Given the description of an element on the screen output the (x, y) to click on. 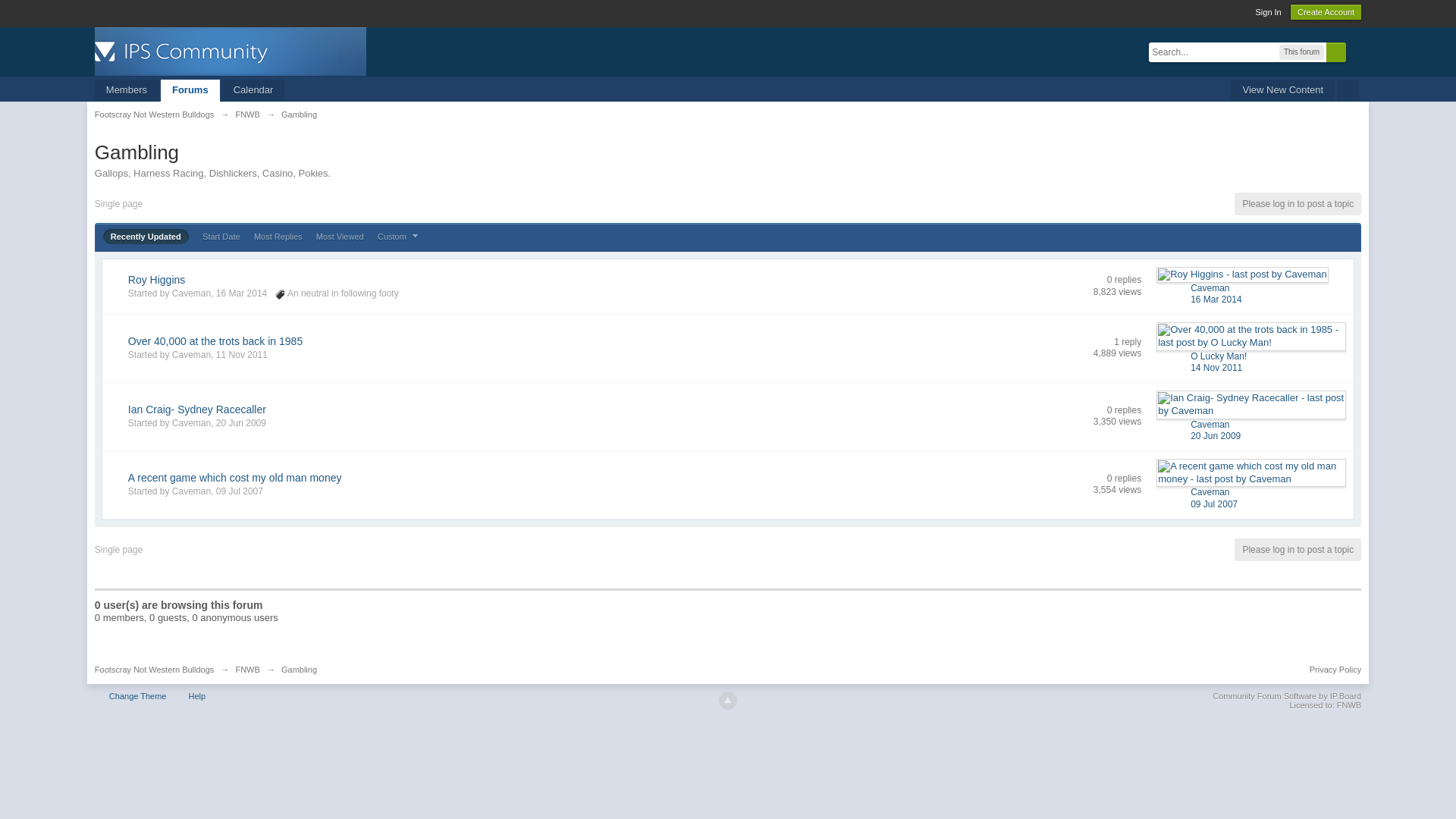
Change Theme Element type: text (137, 695)
09 Jul 2007 Element type: text (1213, 503)
Go to top Element type: hover (727, 700)
Help Element type: text (197, 695)
Gambling Element type: text (298, 669)
Caveman Element type: text (191, 293)
Caveman Element type: text (191, 354)
Community Forum Software by IP.Board Element type: text (1286, 695)
Most Replies Element type: text (278, 236)
Calendar Element type: text (253, 90)
O Lucky Man! Element type: text (1218, 356)
Caveman Element type: text (1209, 423)
Footscray Not Western Bulldogs Element type: text (154, 114)
FNWB Element type: text (247, 669)
FNWB Element type: text (247, 114)
Start Date Element type: text (221, 236)
An neutral in following footy Element type: text (342, 293)
Recently Updated Element type: text (145, 236)
Create Account Element type: text (1325, 11)
View New Content Element type: text (1282, 90)
Over 40,000 at the trots back in 1985 Element type: text (215, 341)
Custom Element type: text (399, 236)
Roy Higgins Element type: text (156, 279)
Forums Element type: text (189, 90)
Caveman Element type: text (191, 422)
Caveman Element type: text (191, 491)
Open Quick Navigation Element type: hover (1347, 90)
Footscray Not Western Bulldogs Element type: text (154, 669)
Privacy Policy Element type: text (1335, 669)
Most Viewed Element type: text (340, 236)
20 Jun 2009 Element type: text (1215, 435)
A recent game which cost my old man money Element type: text (235, 477)
Sign In Element type: text (1267, 11)
Advanced Element type: text (1355, 51)
Go to community index Element type: hover (230, 50)
14 Nov 2011 Element type: text (1216, 367)
  Element type: text (1347, 90)
Gambling Element type: text (298, 114)
Caveman Element type: text (1209, 287)
Members Element type: text (126, 90)
Ian Craig- Sydney Racecaller Element type: text (197, 409)
Caveman Element type: text (1209, 491)
16 Mar 2014 Element type: text (1215, 299)
